Given the description of an element on the screen output the (x, y) to click on. 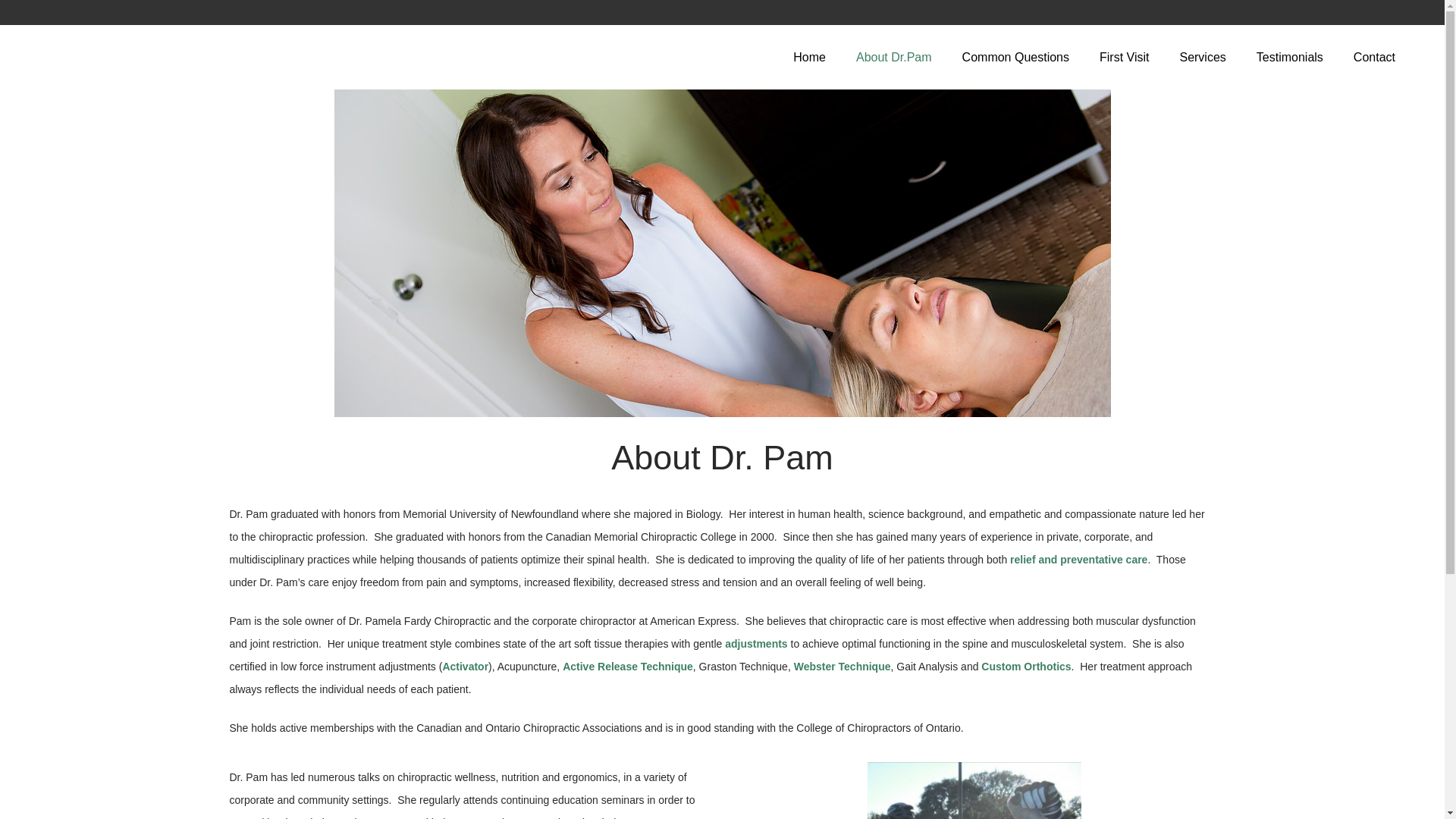
relief and preventative care (1078, 559)
adjustments (756, 644)
Services (1201, 57)
Common Questions (1015, 57)
Home (809, 57)
First Visit (1123, 57)
Activator (464, 666)
Webster Technique (842, 666)
About Dr.Pam (894, 57)
Active Release Technique (627, 666)
